Given the description of an element on the screen output the (x, y) to click on. 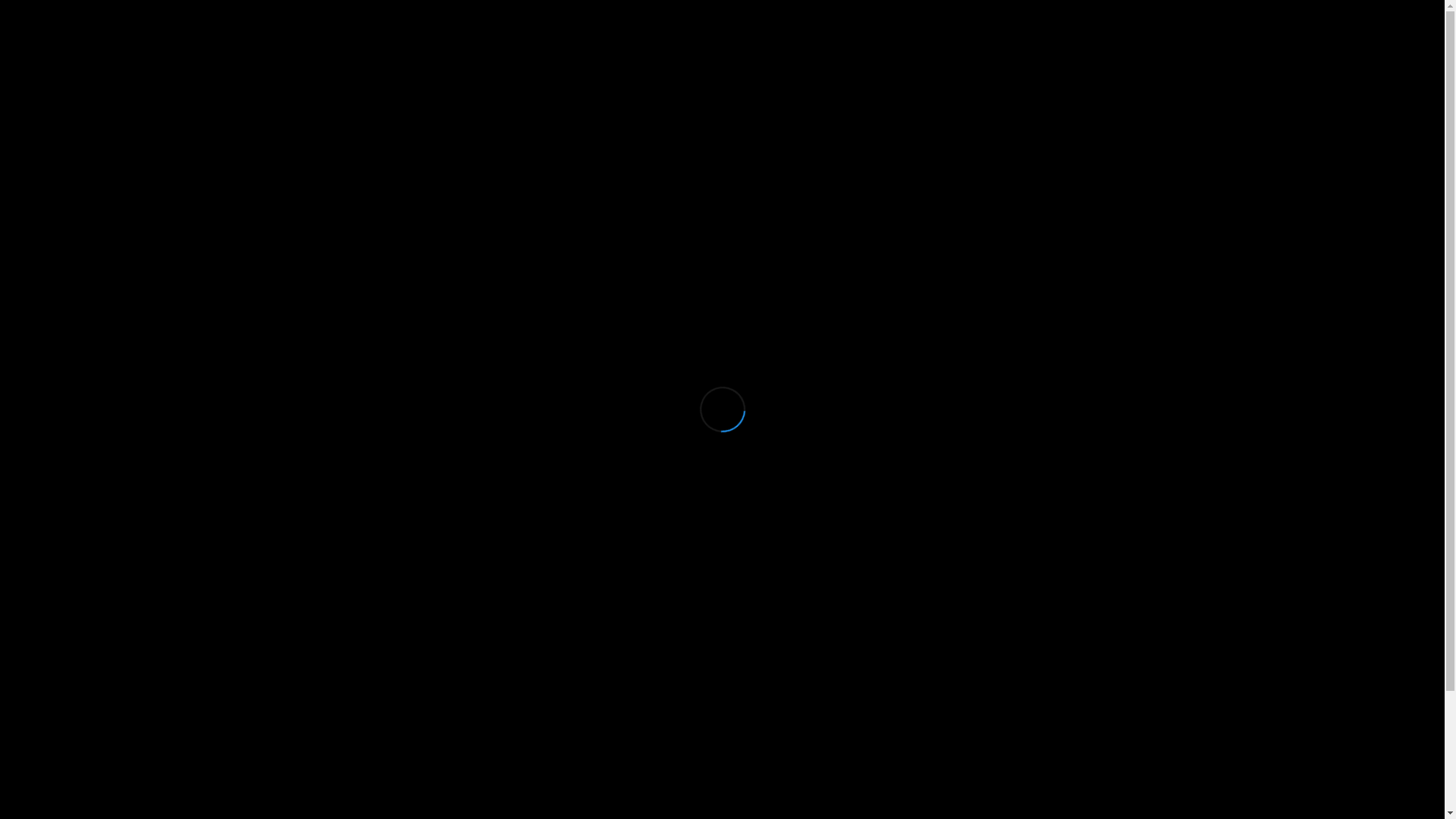
CONNECTA Element type: text (996, 26)
WOAH! Element type: text (938, 26)
